Given the description of an element on the screen output the (x, y) to click on. 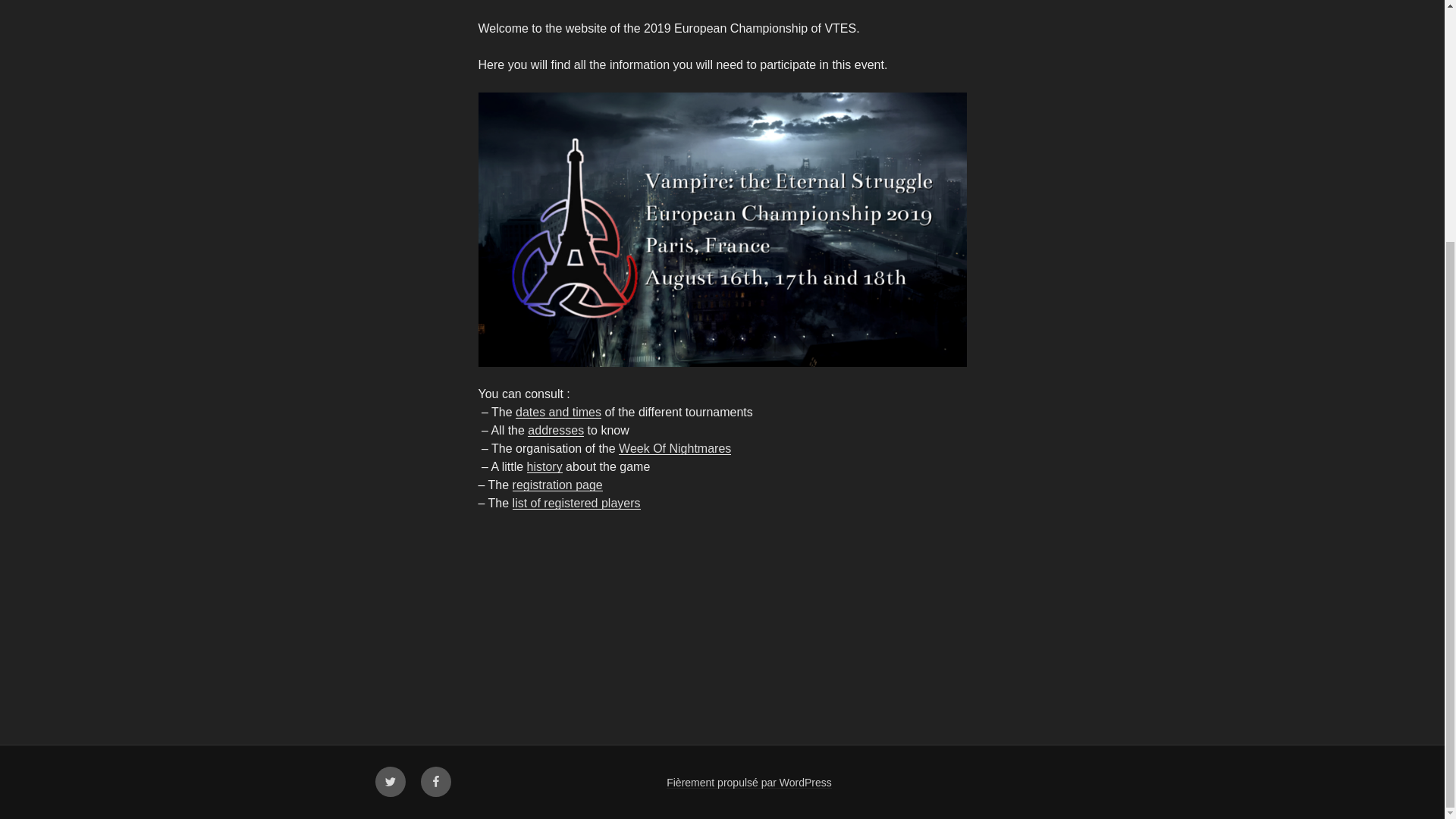
list of registered players (576, 502)
Twitter (389, 781)
addresses (555, 430)
Week Of Nightmares (674, 448)
history (544, 466)
registration page (557, 484)
dates and times (558, 411)
Facebook (435, 781)
